Given the description of an element on the screen output the (x, y) to click on. 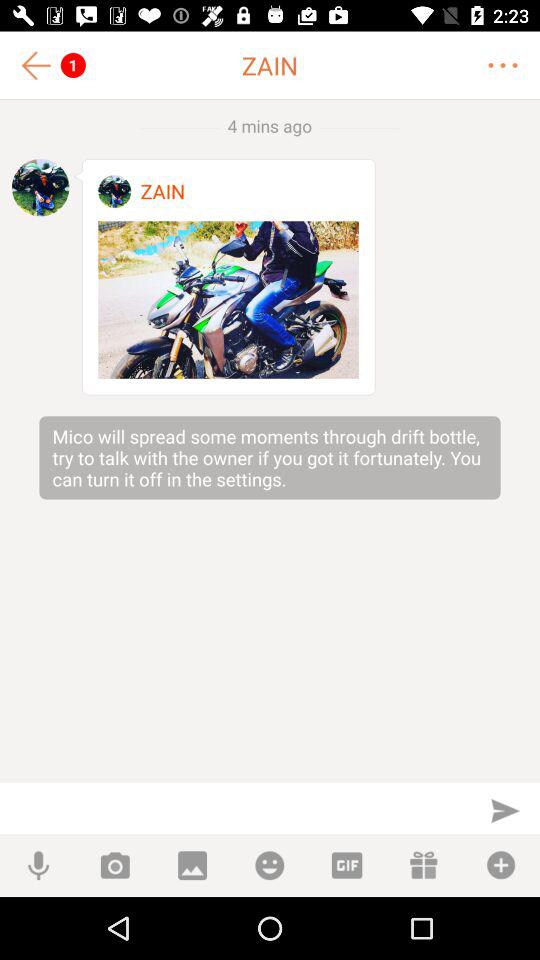
text area (235, 808)
